Given the description of an element on the screen output the (x, y) to click on. 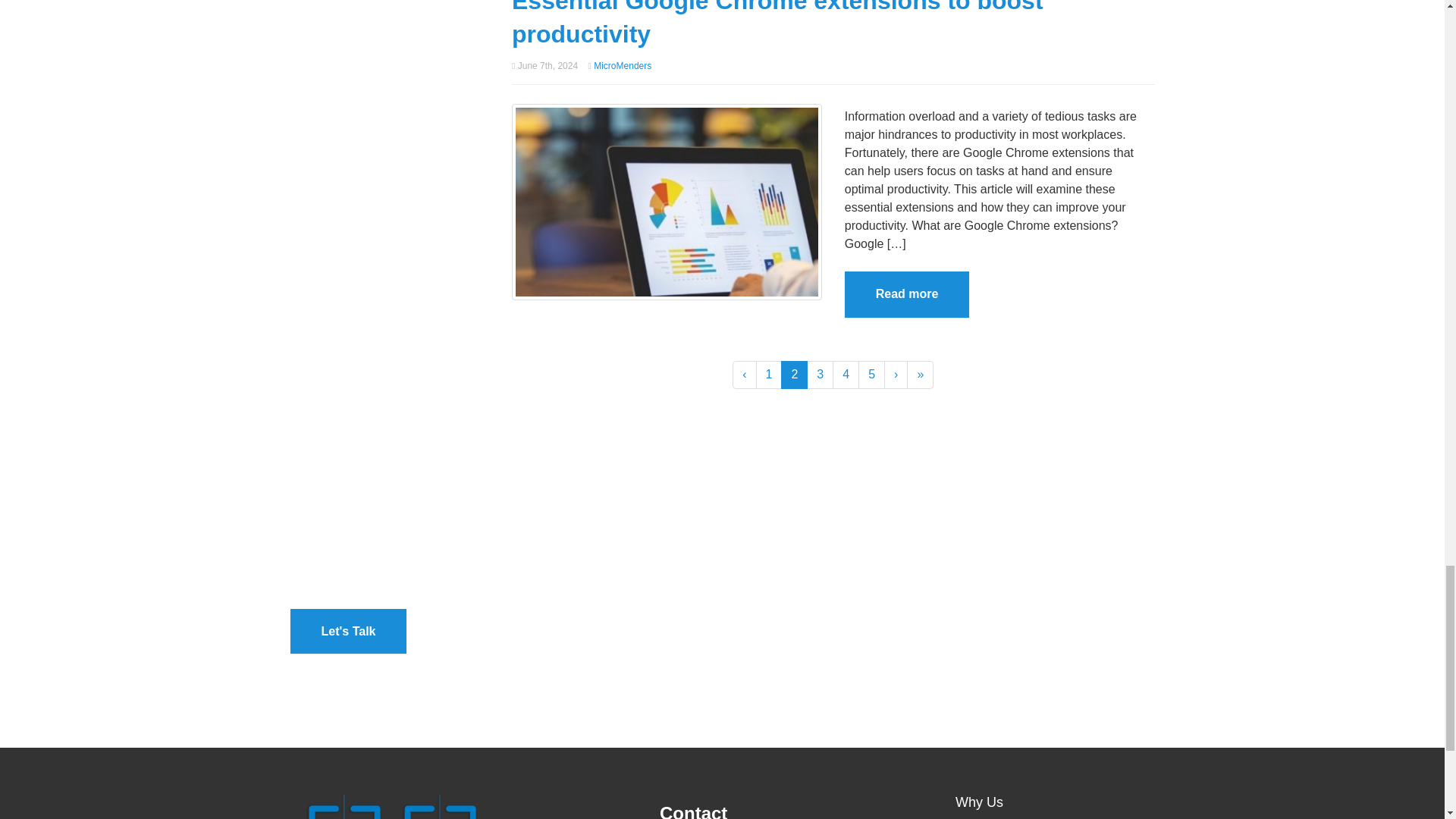
Essential Google Chrome extensions to boost productivity (667, 201)
Posts by MicroMenders (622, 65)
Essential Google Chrome extensions to boost productivity (777, 24)
